Given the description of an element on the screen output the (x, y) to click on. 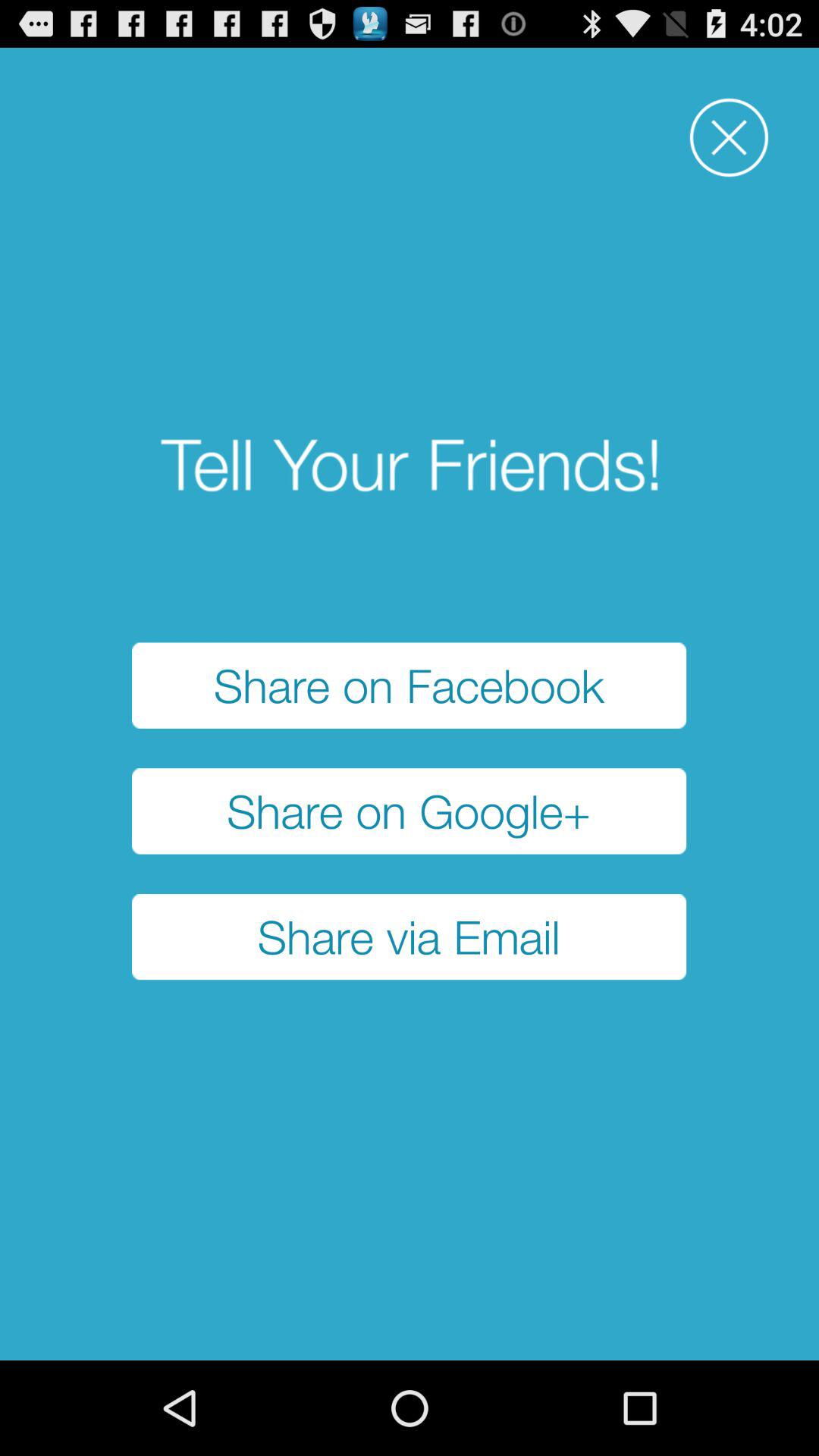
exit (728, 137)
